Given the description of an element on the screen output the (x, y) to click on. 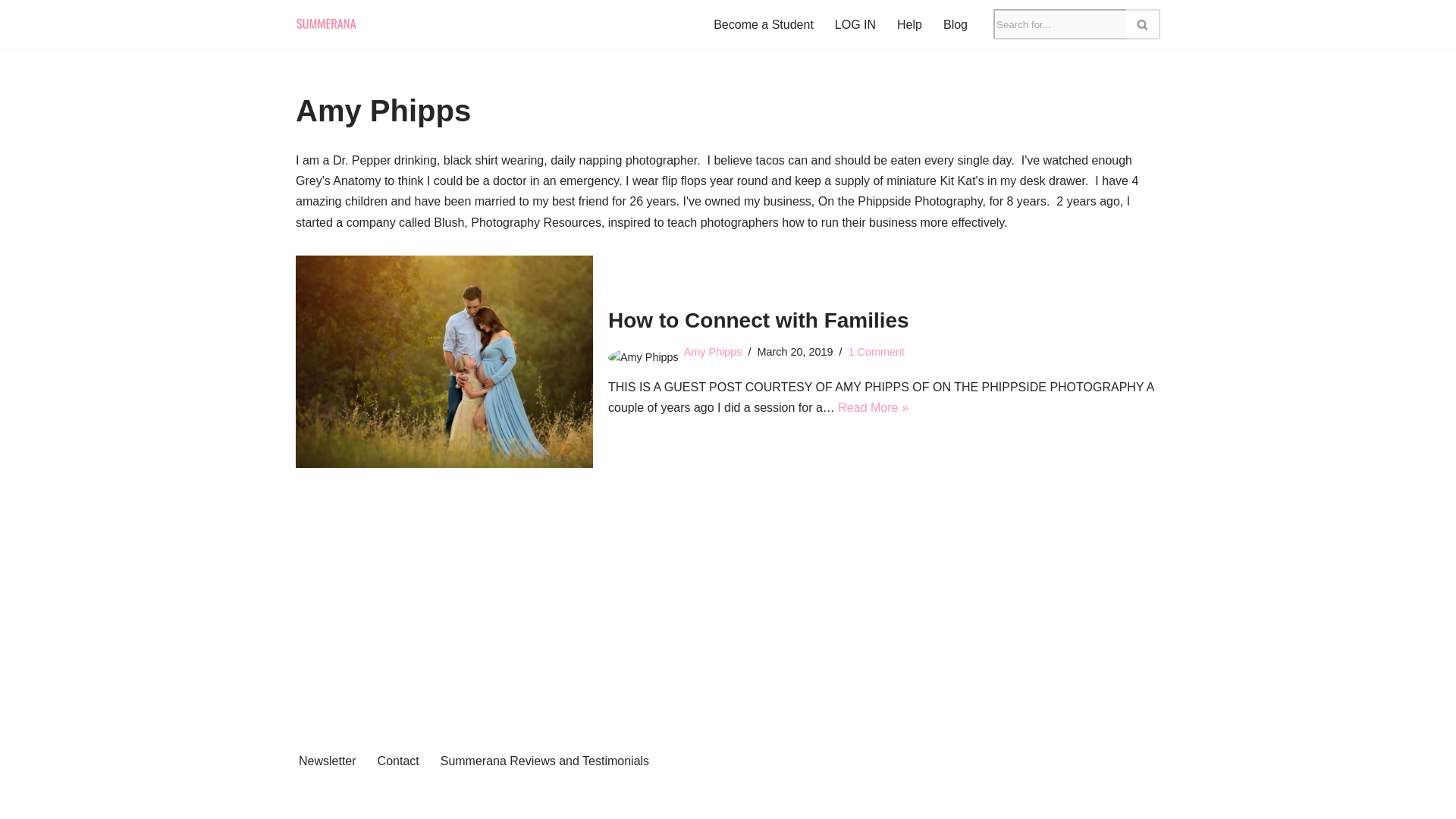
1 Comment (876, 351)
Summerana Reviews and Testimonials (545, 761)
WordPress (431, 799)
Newsletter (327, 761)
How to Connect with Families (758, 320)
Skip to content (11, 31)
LOG IN (855, 24)
Amy Phipps (713, 351)
Help (908, 24)
Contact (398, 761)
